Given the description of an element on the screen output the (x, y) to click on. 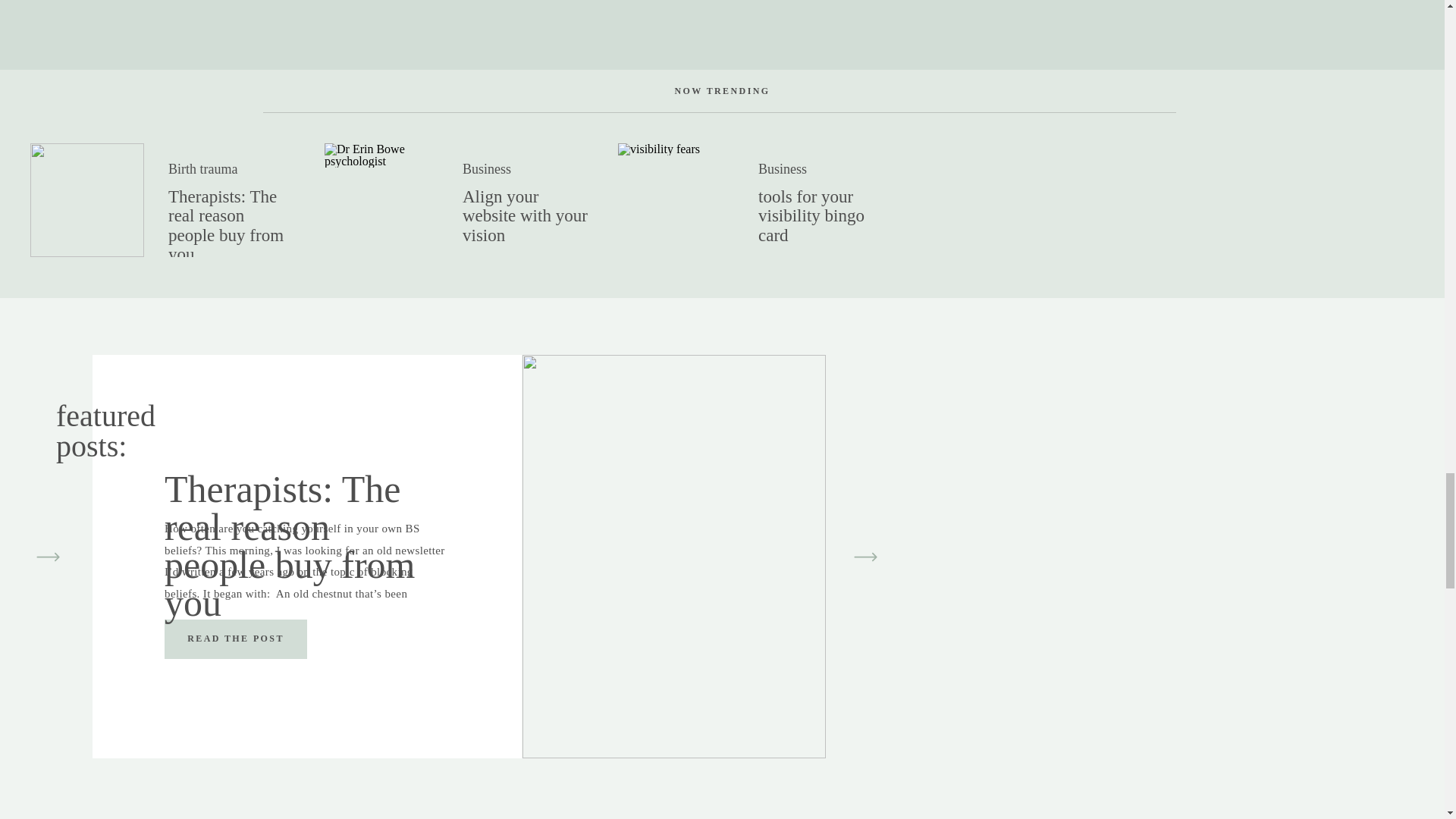
Therapists: The real reason people buy from you (235, 639)
Therapists: The real reason people buy from you (87, 200)
Therapists: The real reason people buy from you (234, 636)
Align your website with your vision (381, 200)
